Given the description of an element on the screen output the (x, y) to click on. 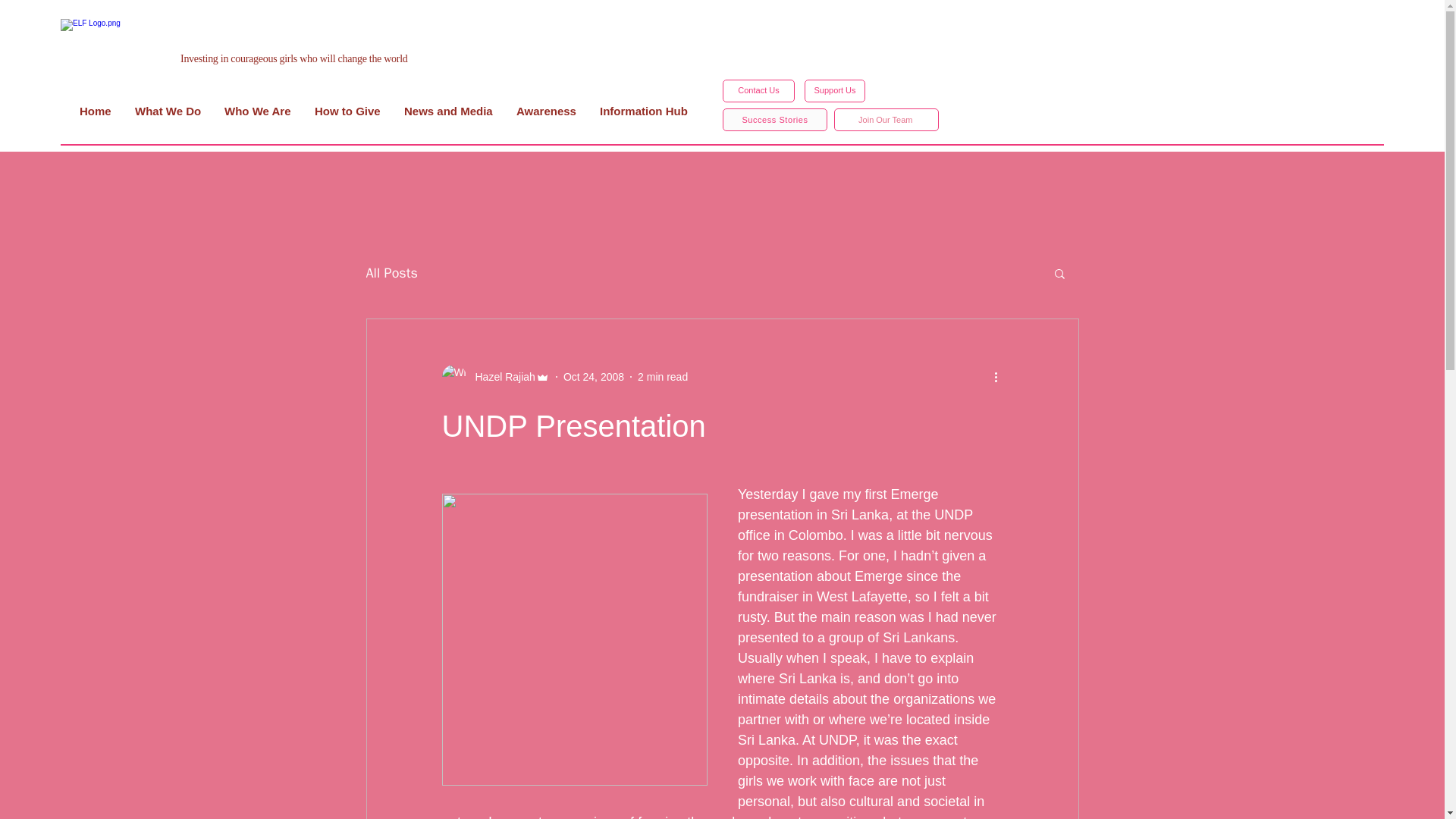
Hazel Rajiah (499, 376)
2 min read (662, 376)
Oct 24, 2008 (593, 376)
Contact Us (758, 90)
Awareness (546, 110)
Success Stories (774, 119)
Support Us (834, 90)
UNDP (953, 514)
News and Media (448, 110)
All Posts (390, 272)
How to Give (346, 110)
Who We Are (257, 110)
What We Do (167, 110)
Join Our Team (886, 119)
Home (95, 110)
